Given the description of an element on the screen output the (x, y) to click on. 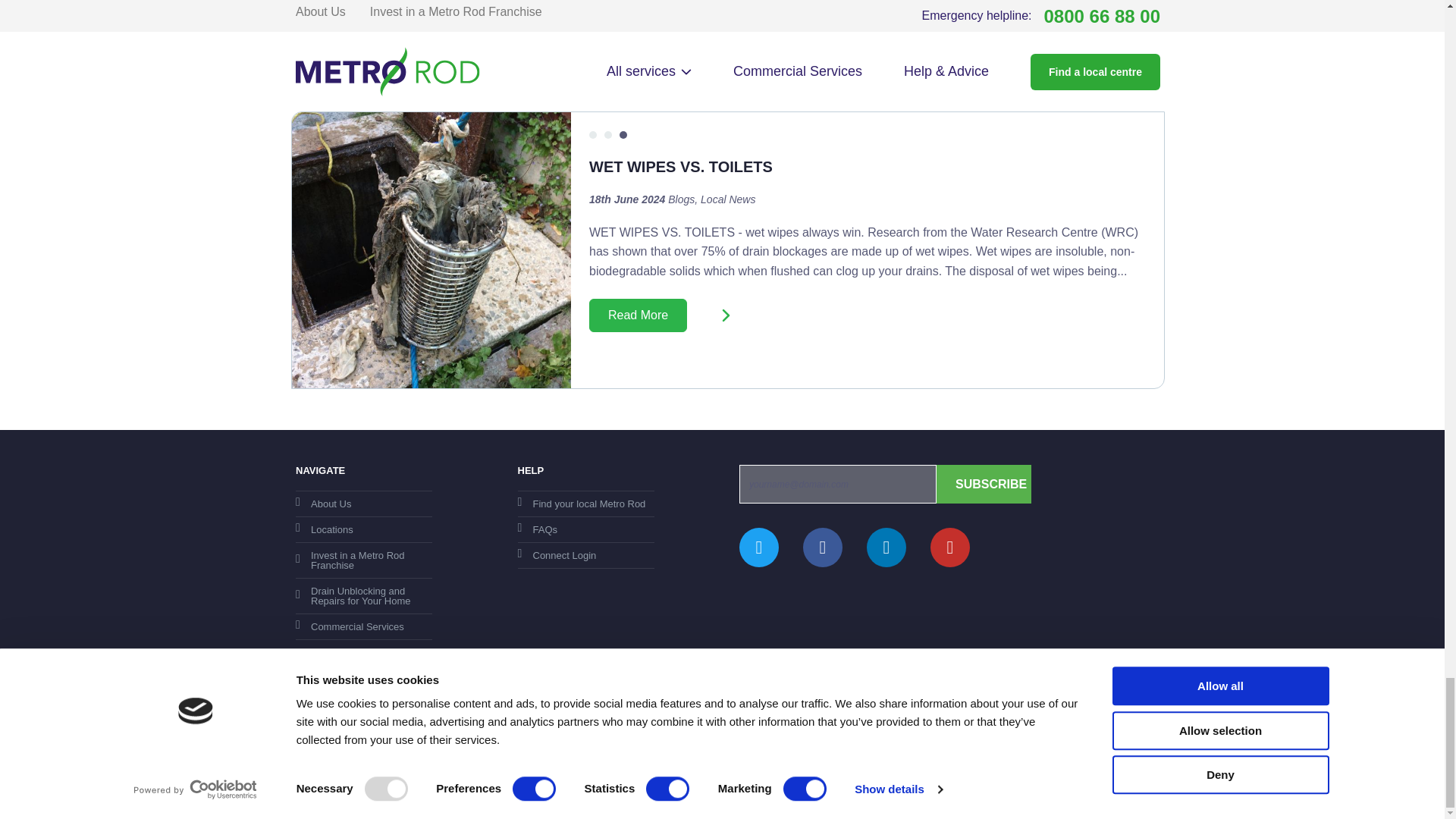
SUBSCRIBE (983, 484)
